Given the description of an element on the screen output the (x, y) to click on. 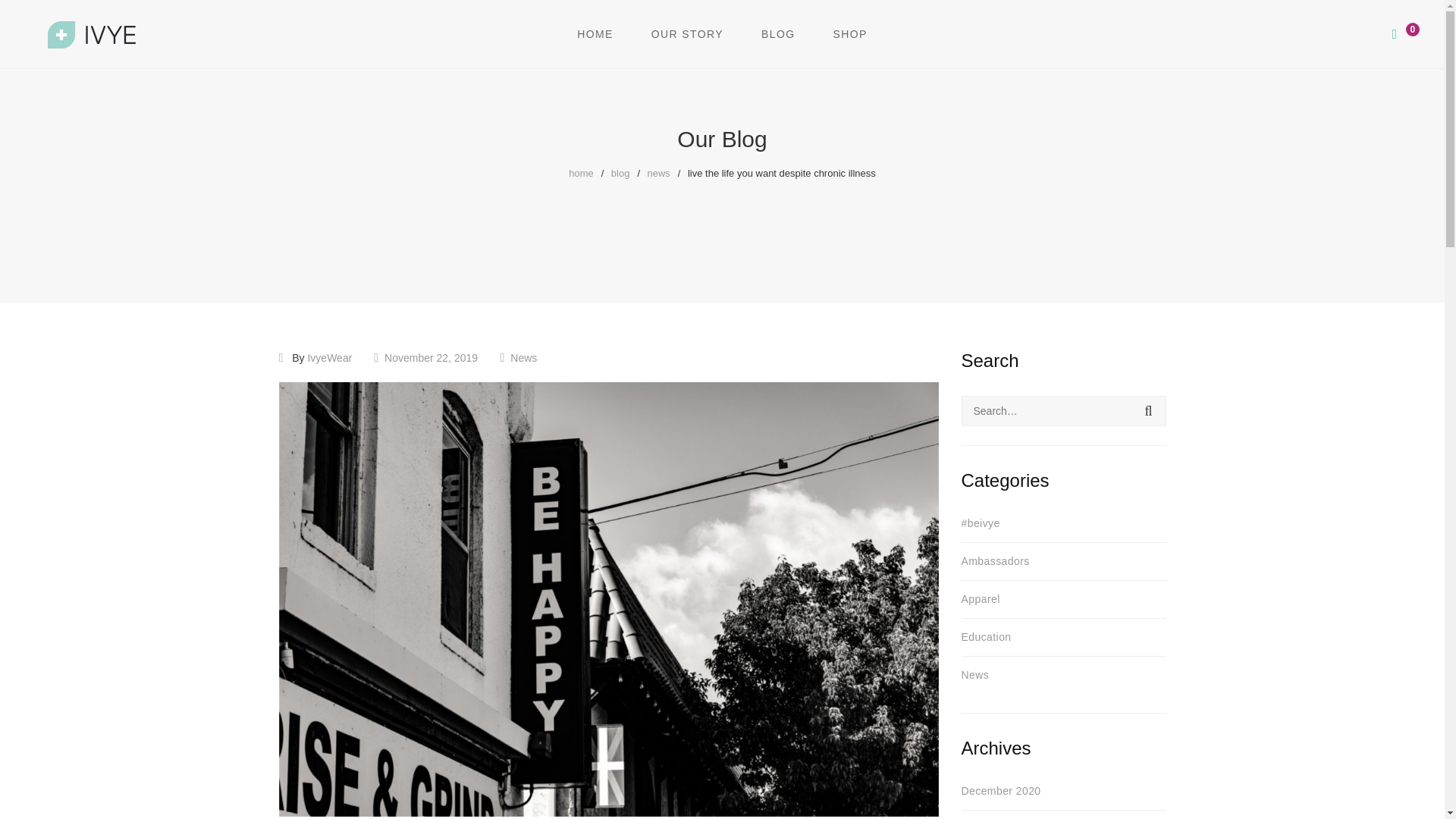
BLOG (777, 34)
chronic illness clothing (686, 34)
OUR STORY (686, 34)
news (657, 172)
blog (620, 172)
News (524, 357)
HOME (594, 34)
November 22, 2019 (430, 357)
IVYE Wear (594, 34)
medical clothing news and updates (777, 34)
